Given the description of an element on the screen output the (x, y) to click on. 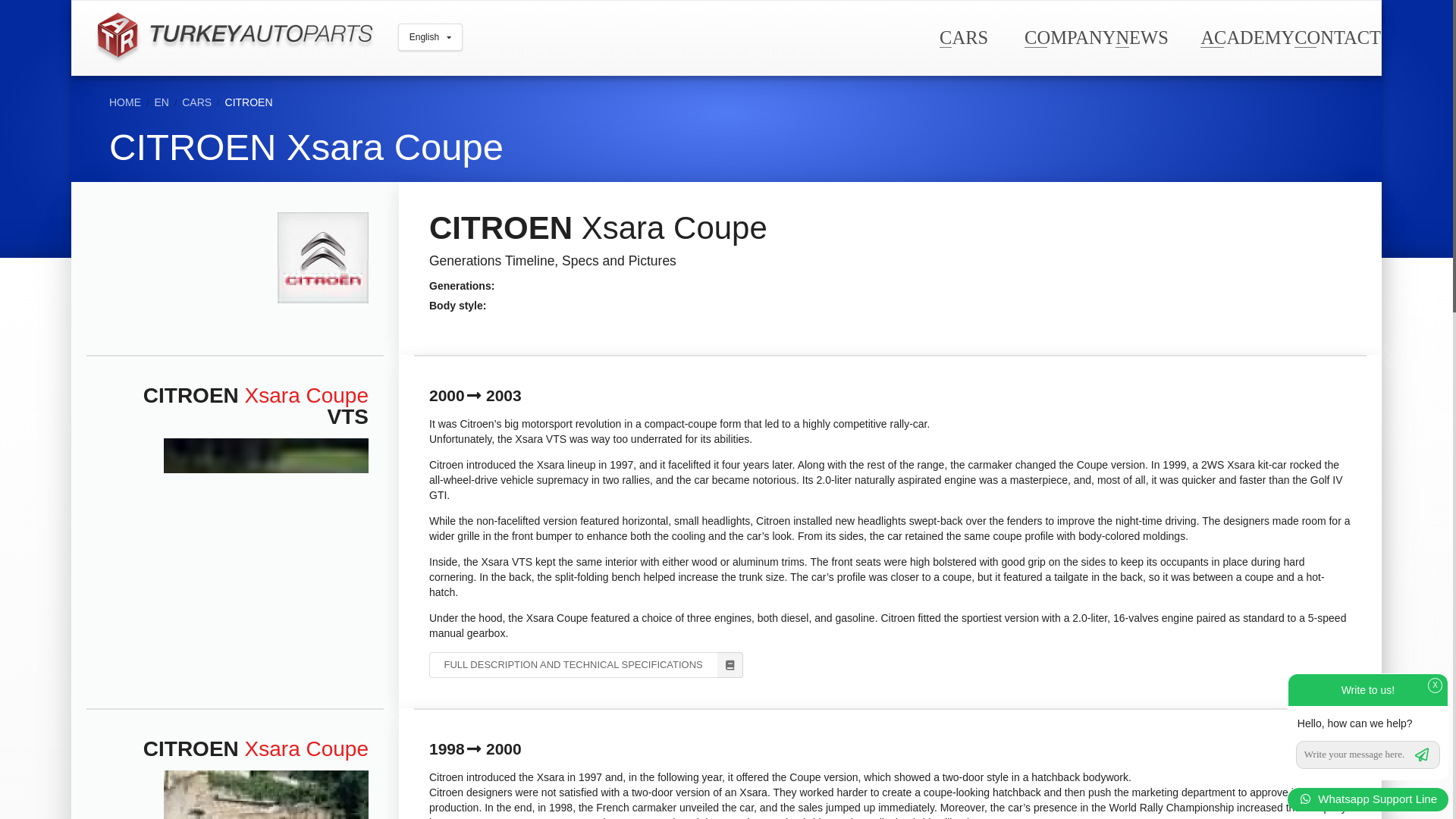
ACADEMY (1246, 37)
COMPANY (1070, 37)
NEWS (1141, 37)
CARS (963, 37)
FULL DESCRIPTION AND TECHNICAL SPECIFICATIONS (585, 664)
CITROEN (249, 102)
EN (161, 102)
CARS (196, 102)
HOME (125, 102)
CONTACT (1337, 37)
